Given the description of an element on the screen output the (x, y) to click on. 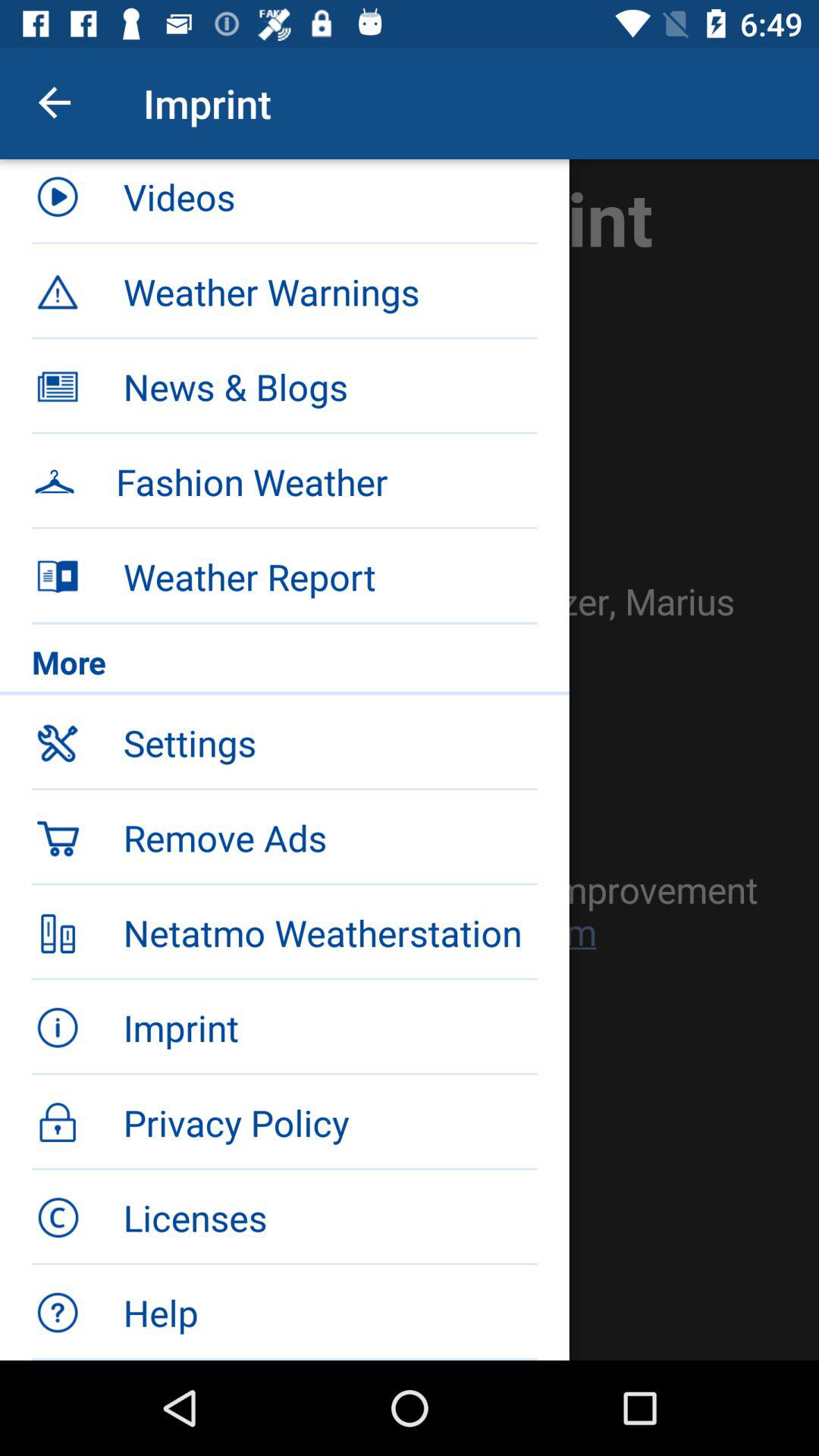
turn on item below the weather report icon (284, 665)
